Given the description of an element on the screen output the (x, y) to click on. 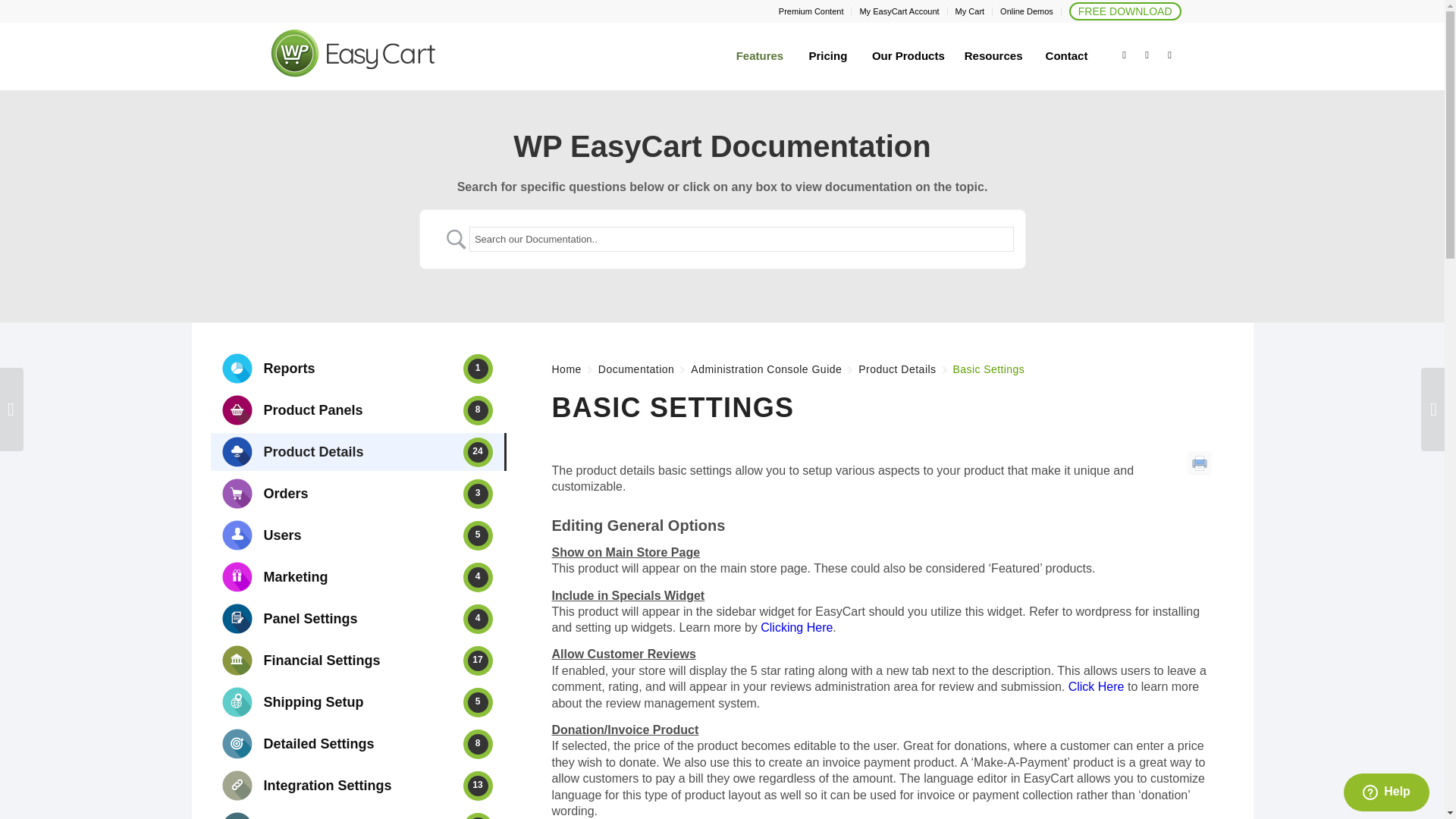
Home (565, 370)
Our Products (908, 56)
Facebook (1146, 55)
Product Details (897, 370)
Administration Console Guide (765, 370)
Resources (993, 56)
X (1124, 55)
Pricing (827, 56)
Features (759, 56)
FREE DOWNLOAD (1124, 11)
